Given the description of an element on the screen output the (x, y) to click on. 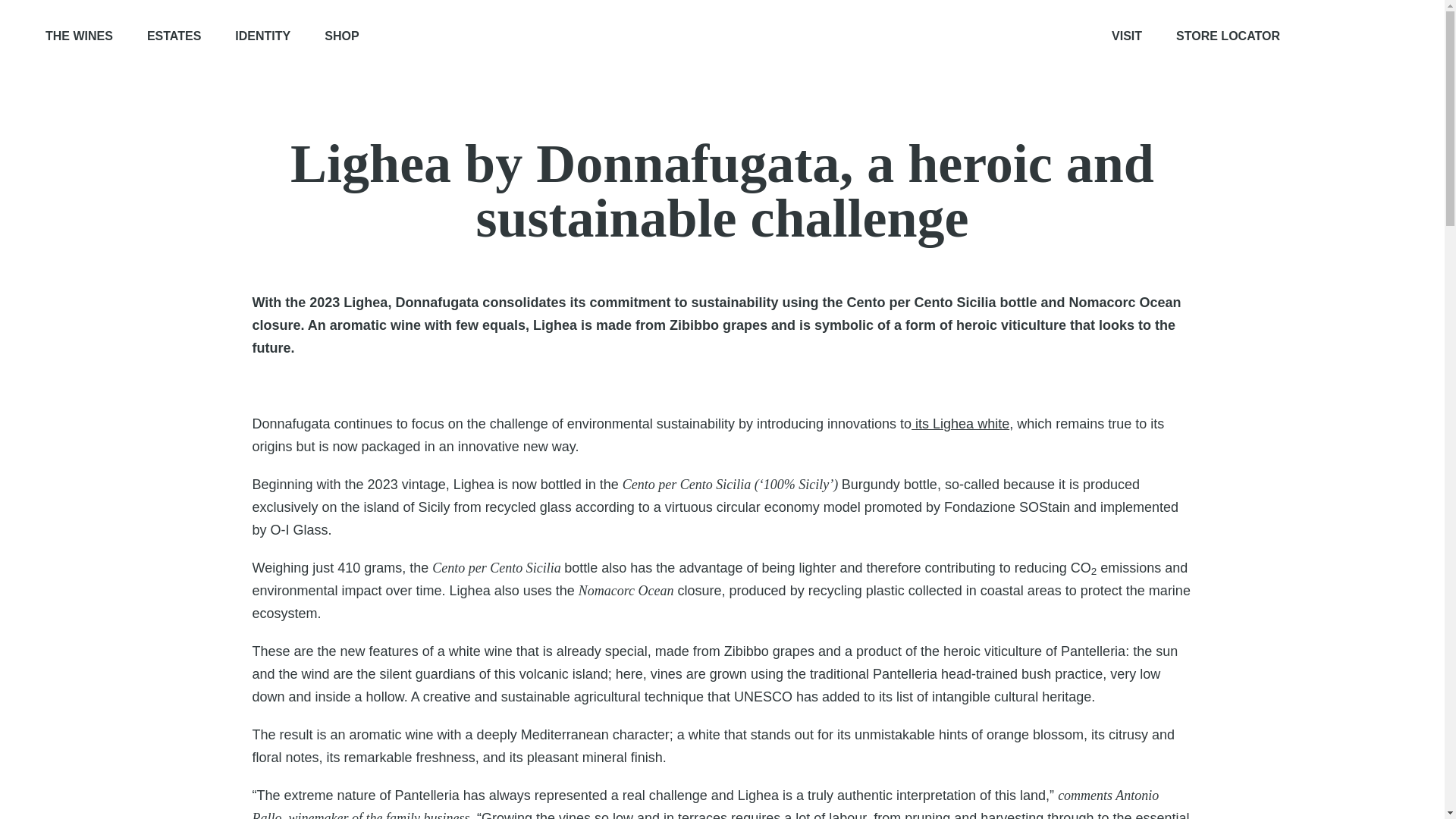
IDENTITY (261, 36)
ESTATES (173, 36)
THE WINES (79, 36)
